Given the description of an element on the screen output the (x, y) to click on. 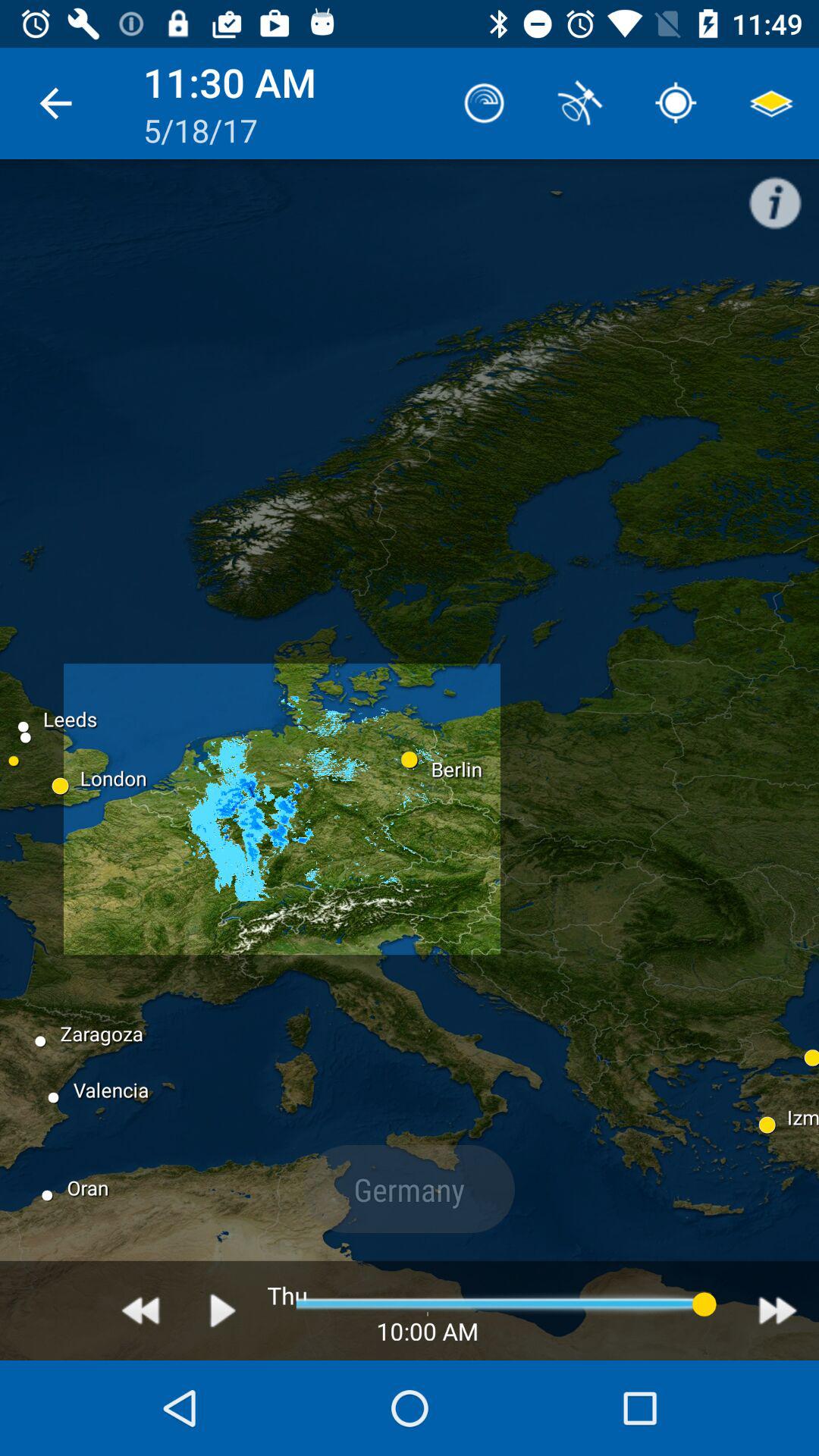
toggle play button (223, 1310)
